Given the description of an element on the screen output the (x, y) to click on. 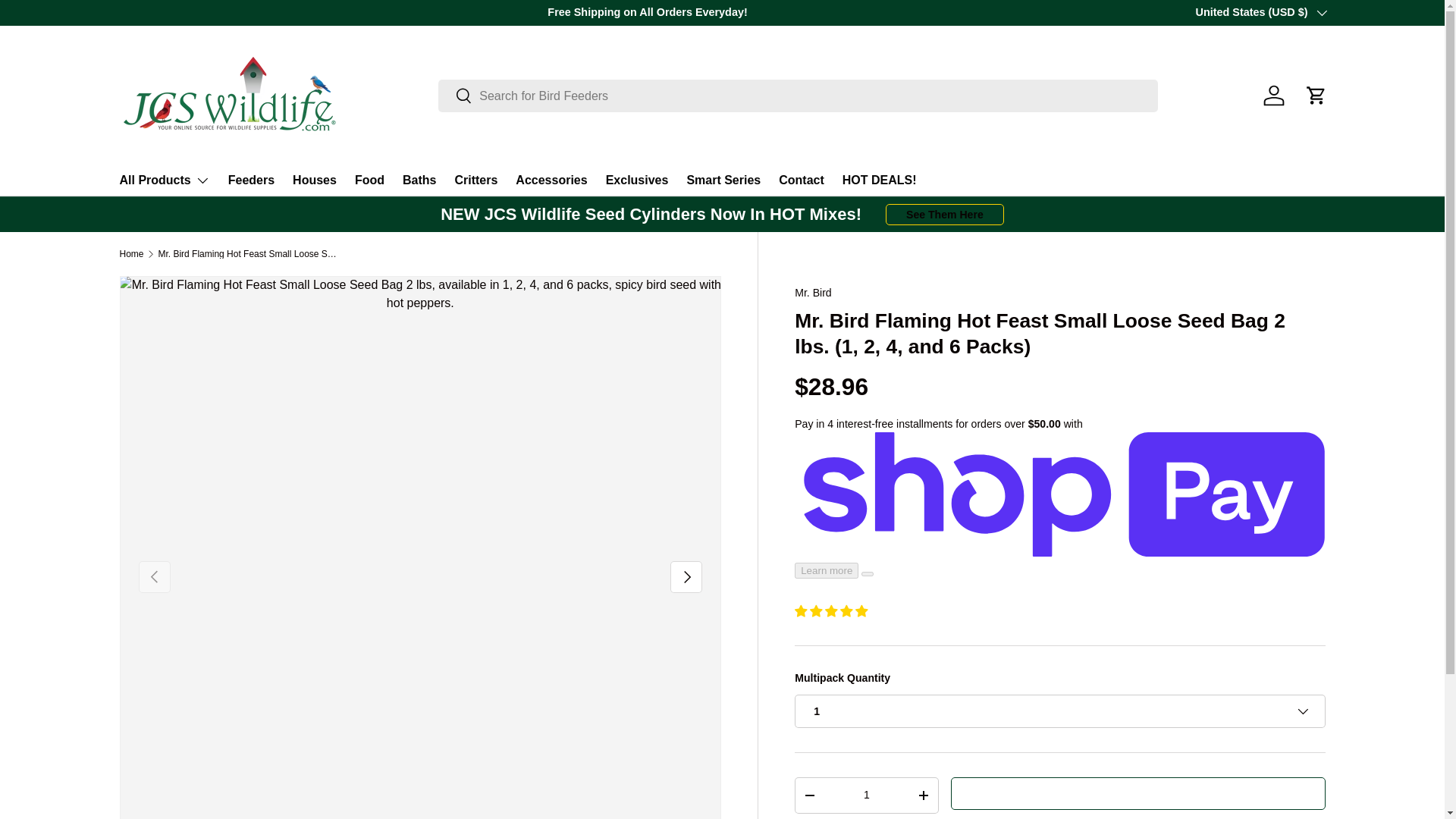
Food (369, 179)
All Products (164, 180)
Contact (801, 179)
Houses (314, 179)
See Them Here (944, 214)
Smart Series (722, 179)
Exclusives (636, 179)
1 (866, 794)
HOT DEALS! (880, 179)
Previous (154, 576)
